Given the description of an element on the screen output the (x, y) to click on. 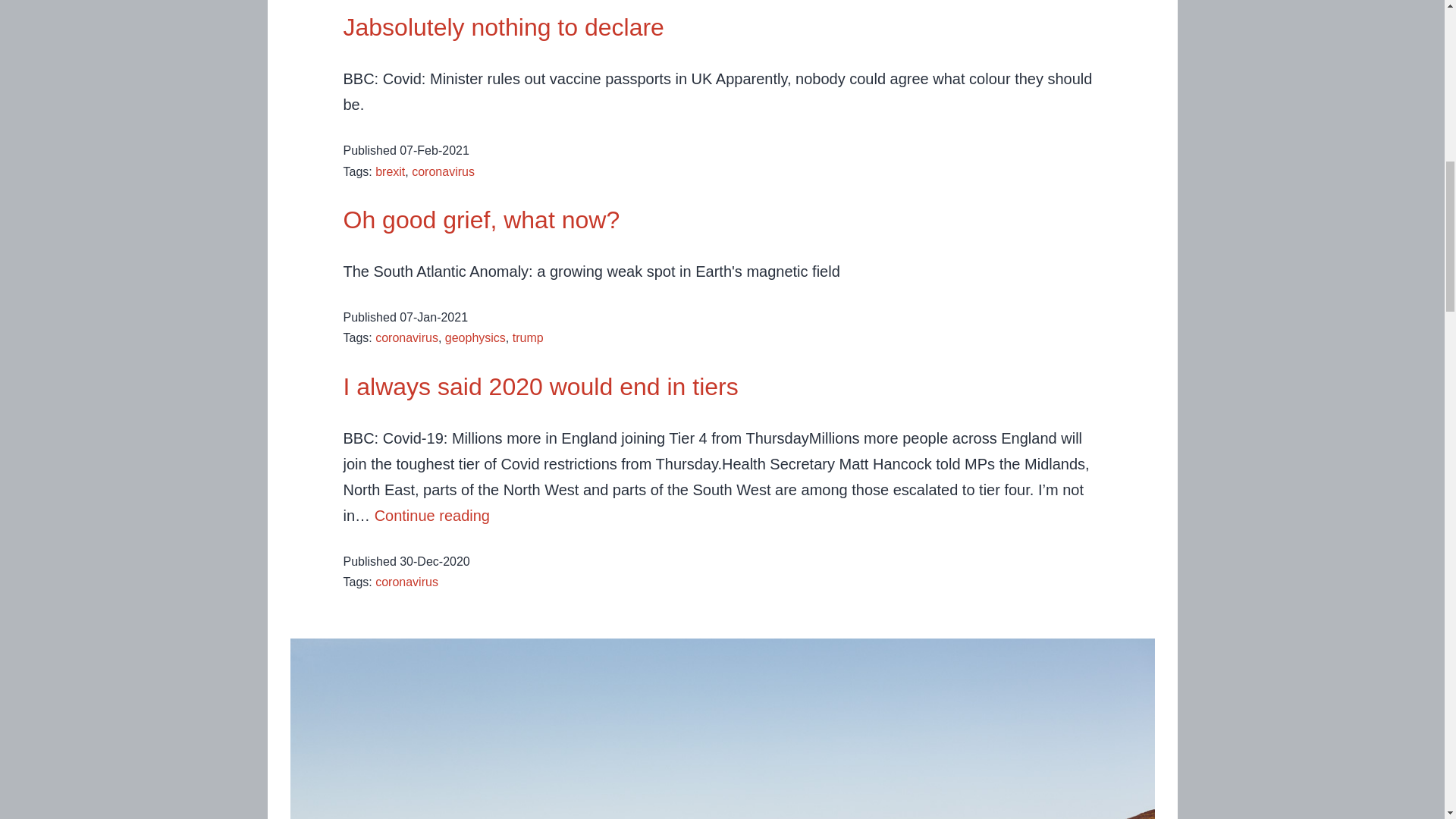
brexit (389, 171)
trump (527, 337)
geophysics (475, 337)
coronavirus (406, 581)
coronavirus (431, 515)
Jabsolutely nothing to declare (443, 171)
Oh good grief, what now? (502, 26)
coronavirus (481, 219)
I always said 2020 would end in tiers (406, 337)
